Given the description of an element on the screen output the (x, y) to click on. 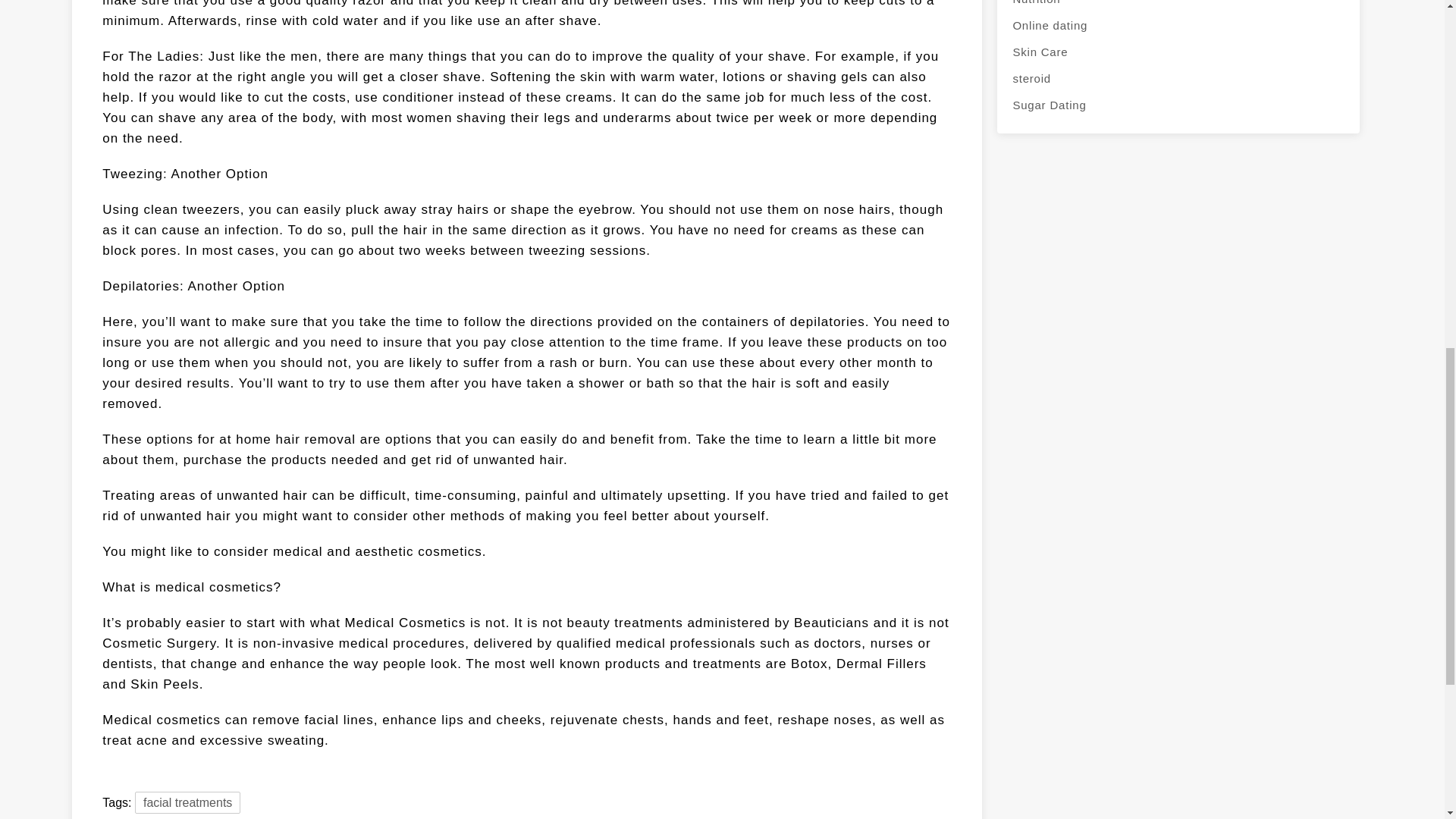
Online dating (1177, 25)
Skin Care (1177, 51)
facial treatments (187, 802)
Sugar Dating (1177, 104)
steroid (1177, 78)
Nutrition (1177, 6)
